Given the description of an element on the screen output the (x, y) to click on. 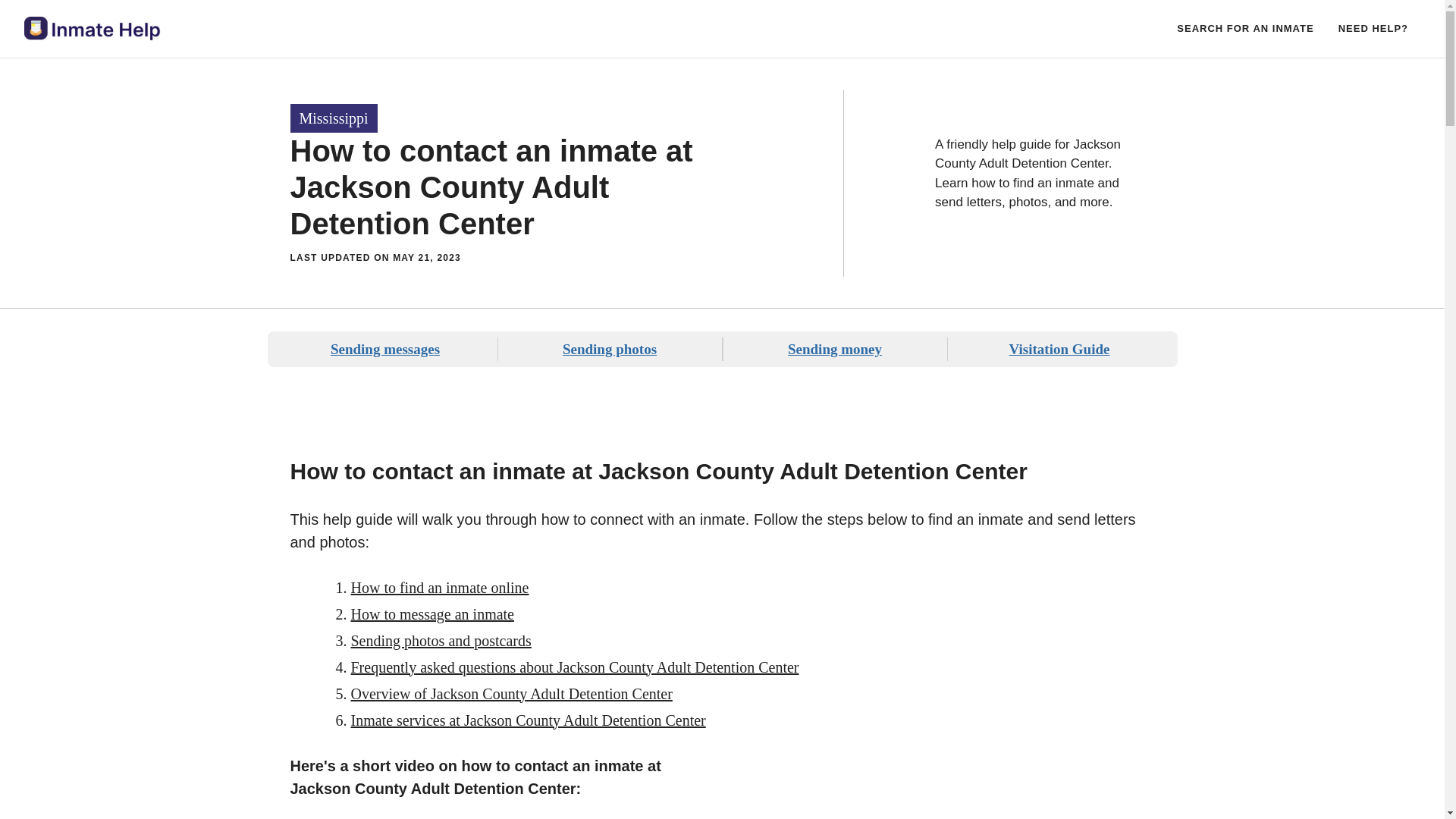
Mississippi (333, 118)
Overview of Jackson County Adult Detention Center (510, 693)
Sending photos and postcards (440, 640)
How to find an inmate online (439, 587)
Sending messages (384, 349)
NEED HELP? (1373, 28)
Sending money (834, 349)
Sending photos (609, 349)
How to message an inmate (431, 613)
Inmate services at Jackson County Adult Detention Center (527, 719)
Visitation Guide (1059, 349)
SEARCH FOR AN INMATE (1244, 28)
